Given the description of an element on the screen output the (x, y) to click on. 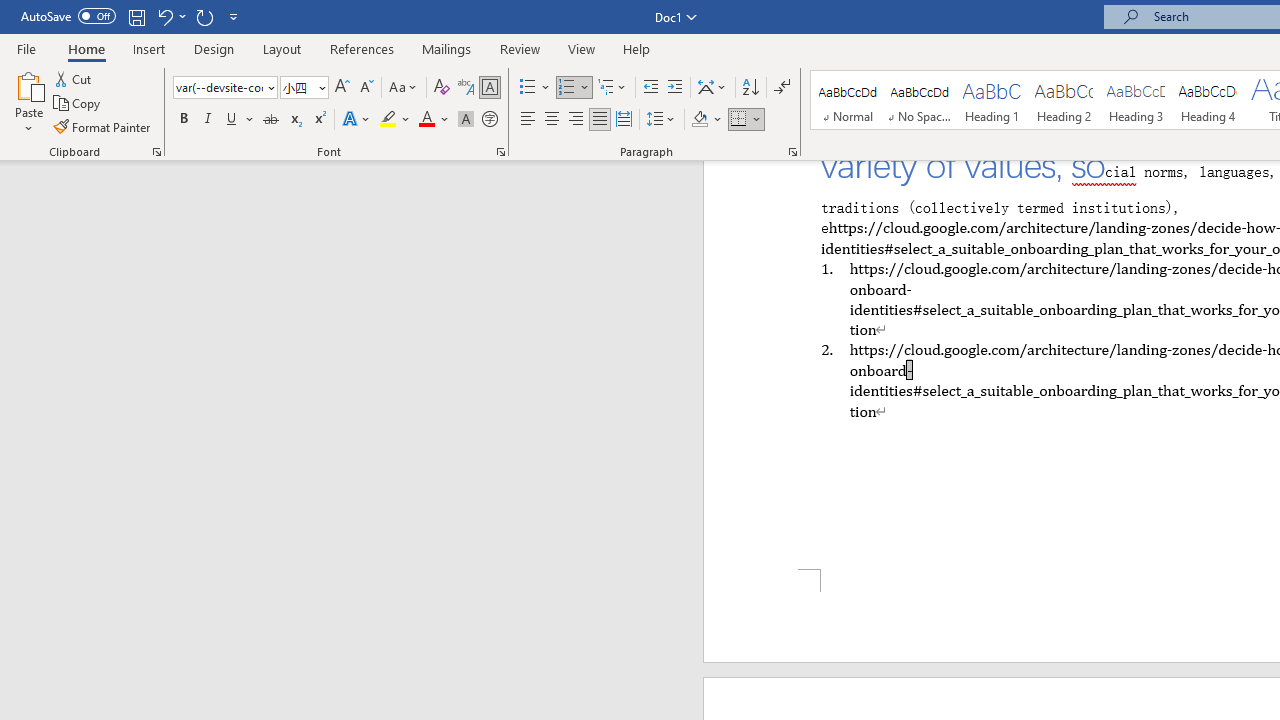
Numbering (566, 87)
Heading 3 (1135, 100)
Undo Paragraph Alignment (164, 15)
Shrink Font (365, 87)
Office Clipboard... (156, 151)
Font (224, 87)
Customize Quick Access Toolbar (234, 15)
Character Shading (465, 119)
Numbering (573, 87)
Shading RGB(0, 0, 0) (699, 119)
Shading (706, 119)
Text Effects and Typography (357, 119)
Bullets (527, 87)
Show/Hide Editing Marks (781, 87)
More Options (757, 119)
